Given the description of an element on the screen output the (x, y) to click on. 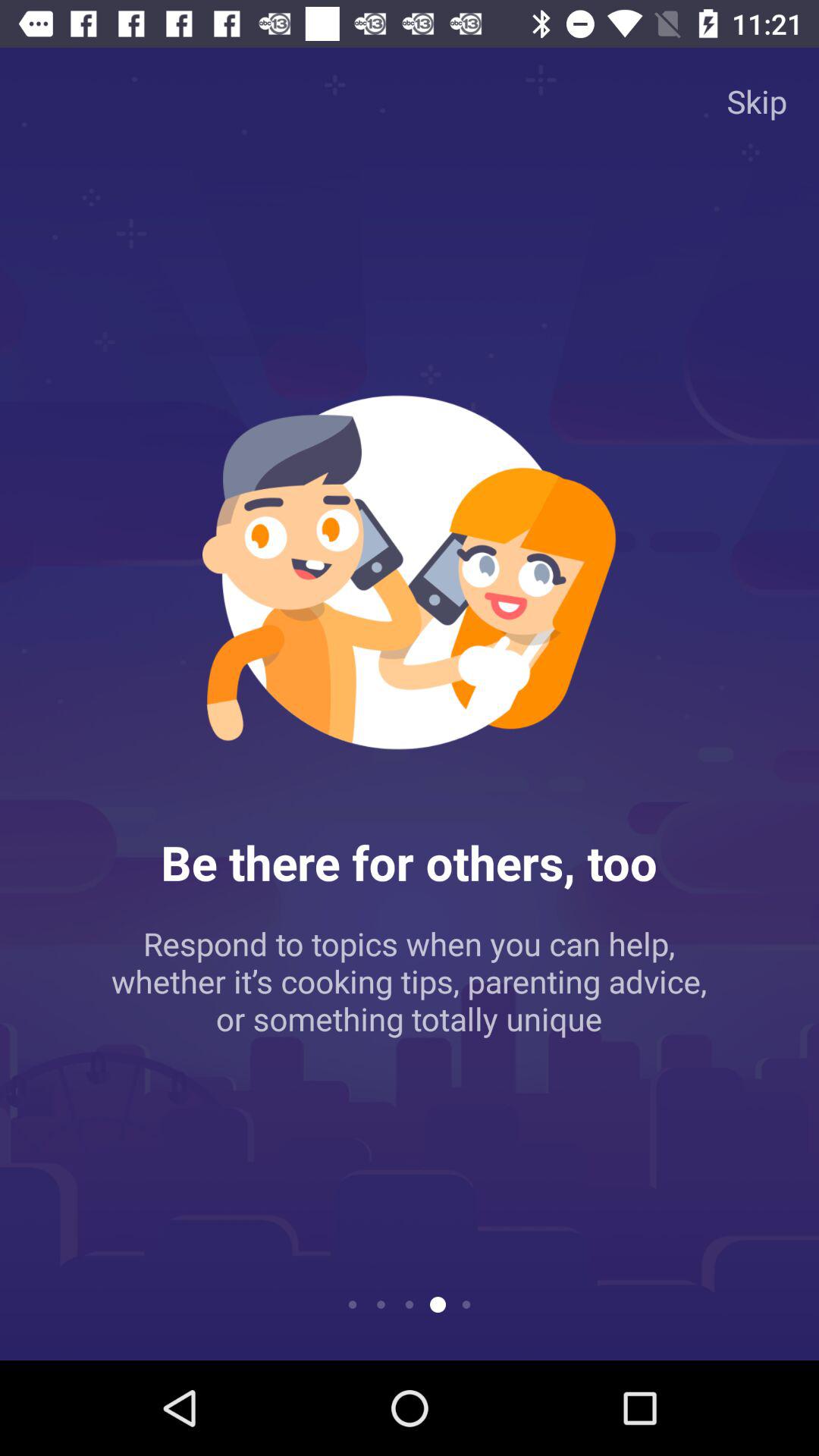
swipe to the skip icon (756, 100)
